Given the description of an element on the screen output the (x, y) to click on. 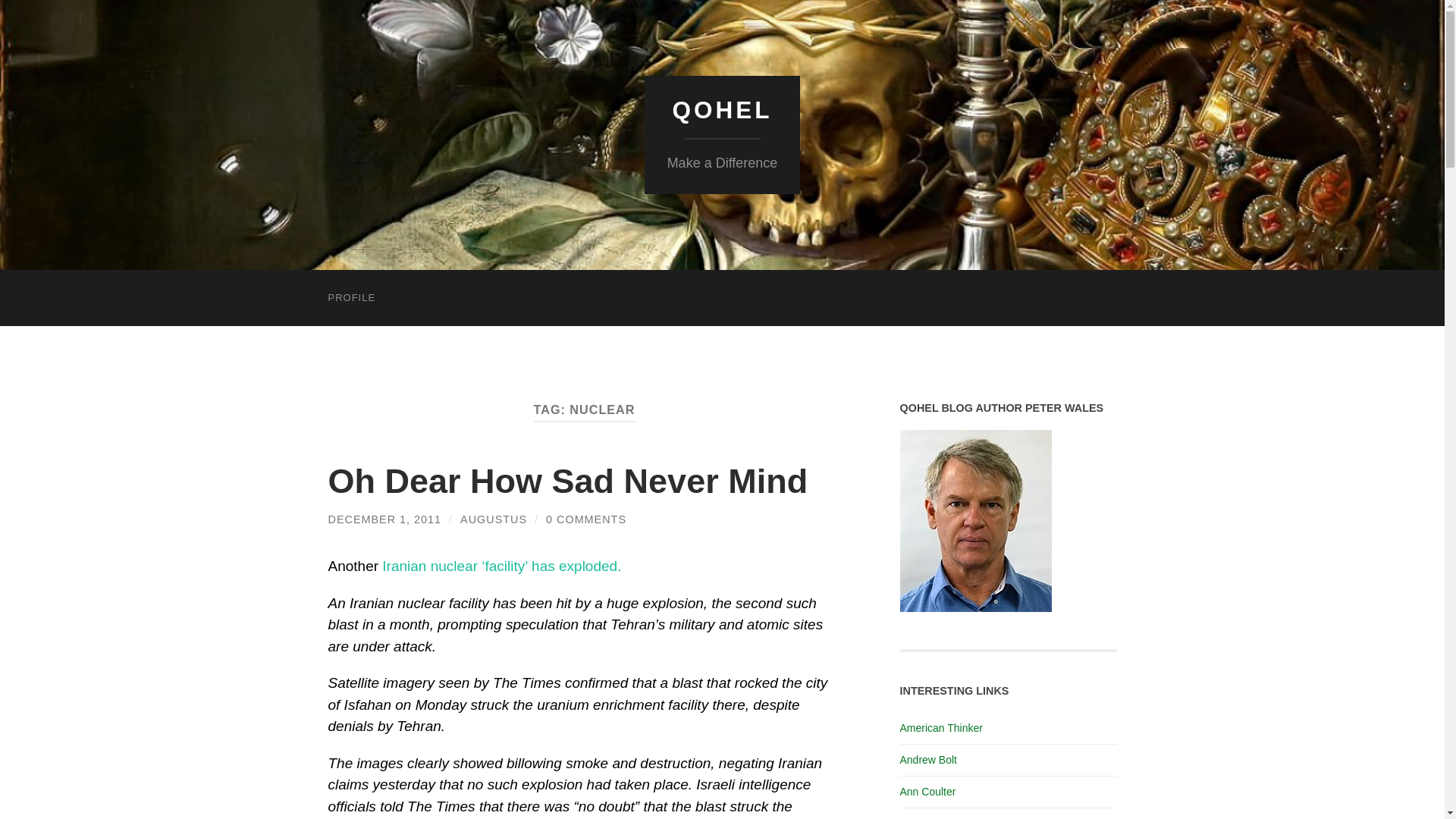
American Thinker (940, 727)
0 COMMENTS (586, 519)
QOHEL (721, 109)
Posts by Augustus (493, 519)
Andrew Bolt (927, 759)
Ann Coulter (927, 791)
AUGUSTUS (493, 519)
PROFILE (351, 297)
DECEMBER 1, 2011 (384, 519)
